Given the description of an element on the screen output the (x, y) to click on. 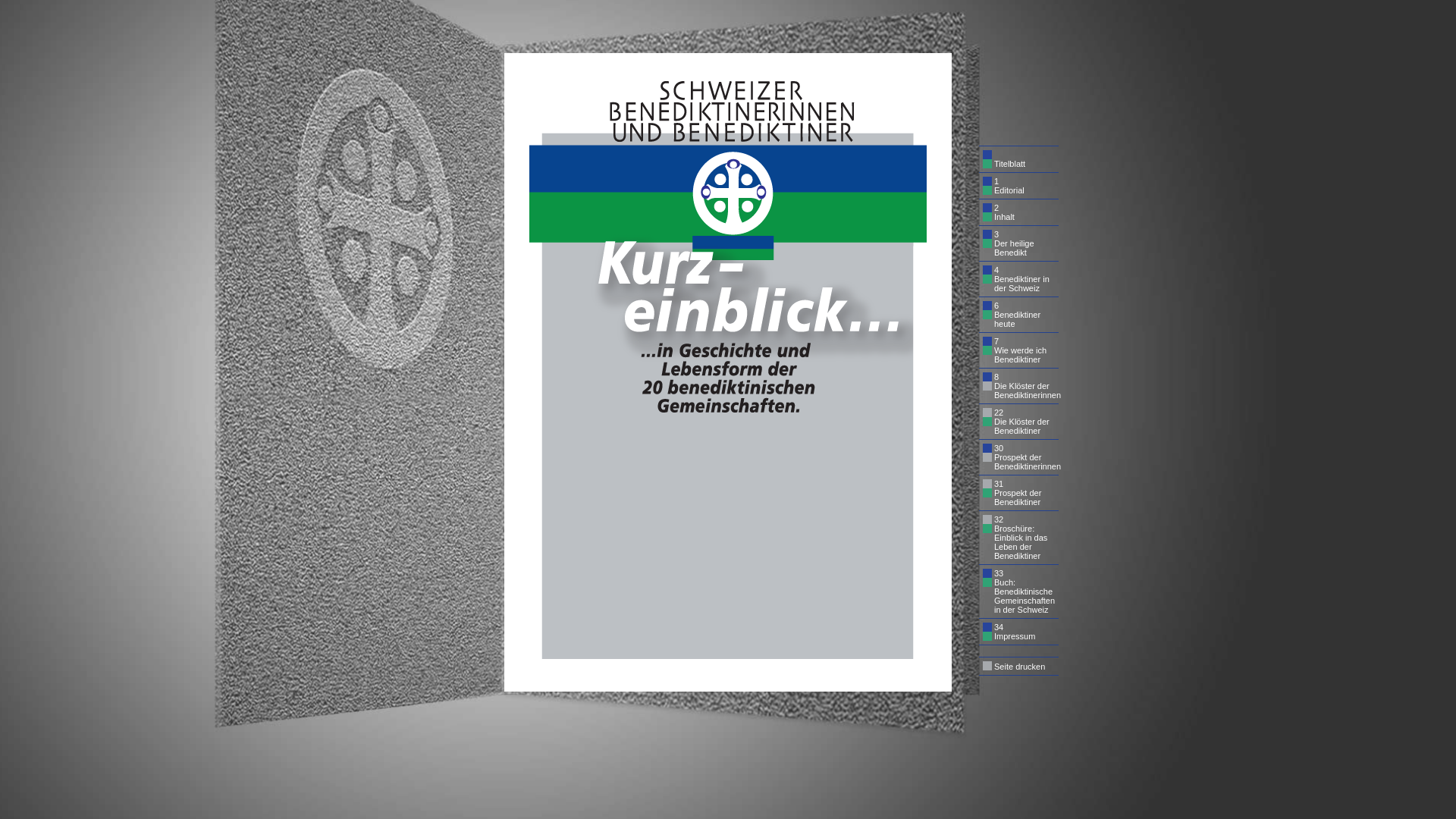
7
Wie werde ich Benediktiner Element type: text (1020, 350)
Seite drucken Element type: text (1020, 666)
3
Der heilige Benedikt Element type: text (1020, 243)
33
Buch: Benediktinische Gemeinschaften in der Schweiz Element type: text (1020, 591)
Titelblatt Element type: text (1020, 159)
4
Benediktiner in der Schweiz Element type: text (1020, 278)
30
Prospekt der Benediktinerinnen Element type: text (1020, 456)
31
Prospekt der Benediktiner Element type: text (1020, 492)
6
Benediktiner heute Element type: text (1020, 314)
1
Editorial Element type: text (1020, 185)
2
Inhalt Element type: text (1020, 212)
34
Impressum Element type: text (1020, 631)
